Given the description of an element on the screen output the (x, y) to click on. 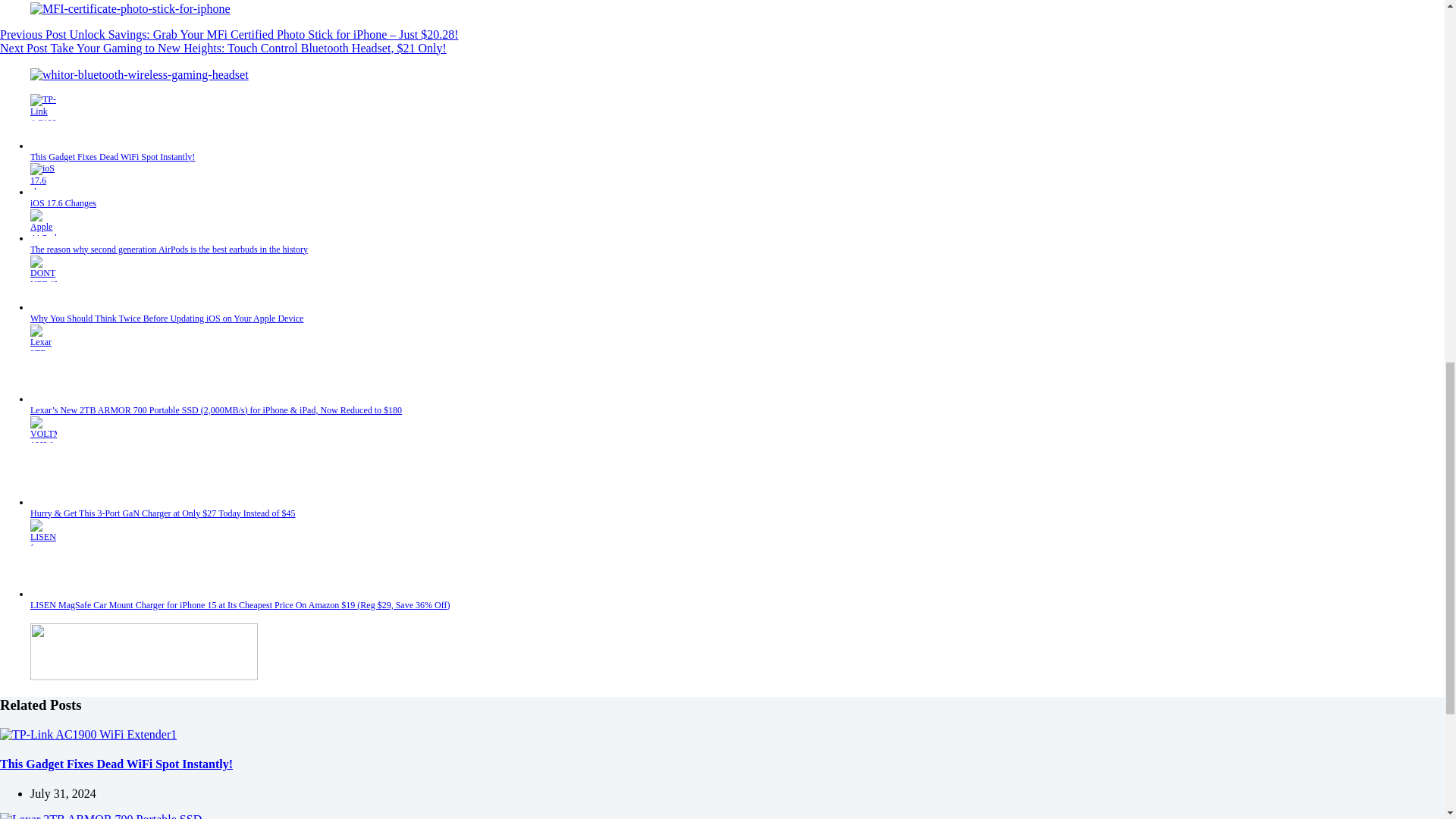
iOS 17.6 Changes (63, 203)
This Gadget Fixes Dead WiFi Spot Instantly! (112, 156)
